Given the description of an element on the screen output the (x, y) to click on. 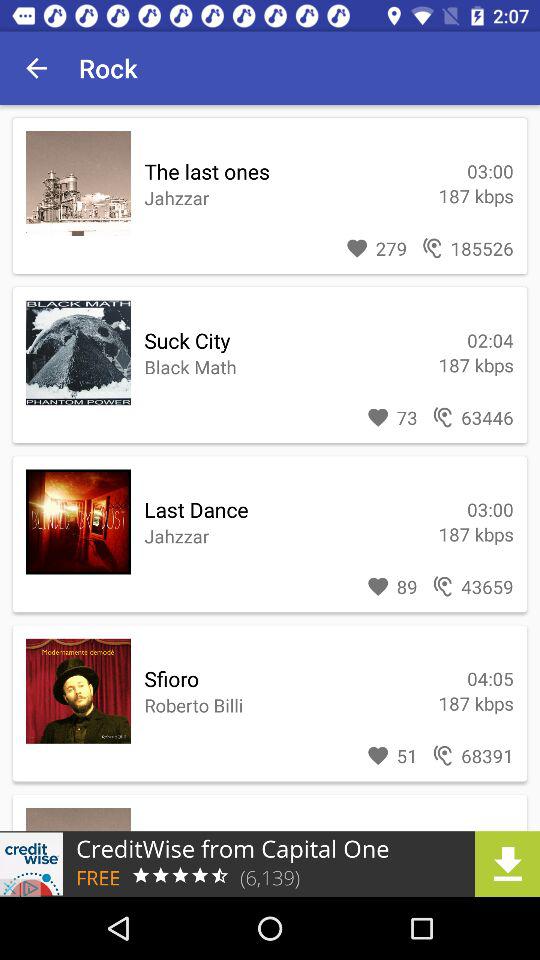
go to advertisement (270, 864)
